Given the description of an element on the screen output the (x, y) to click on. 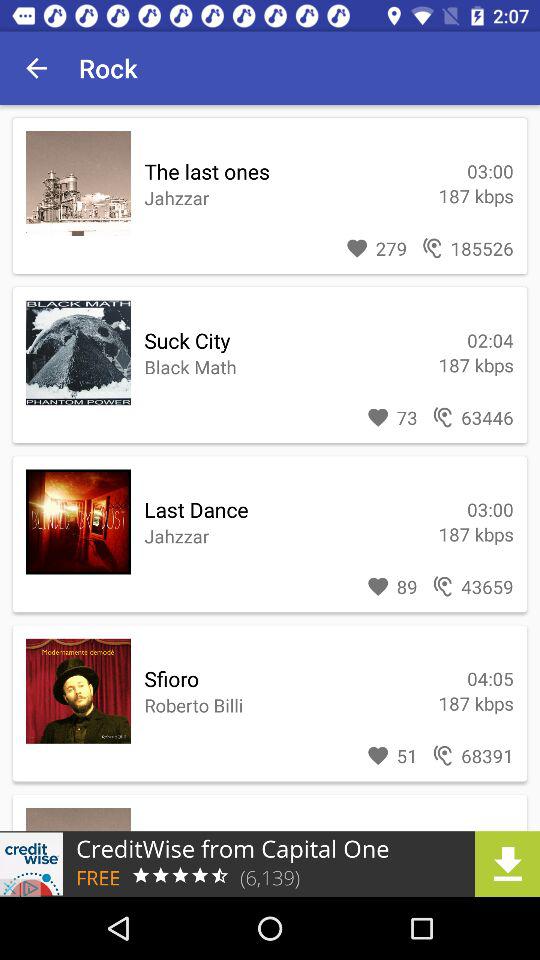
go to advertisement (270, 864)
